Given the description of an element on the screen output the (x, y) to click on. 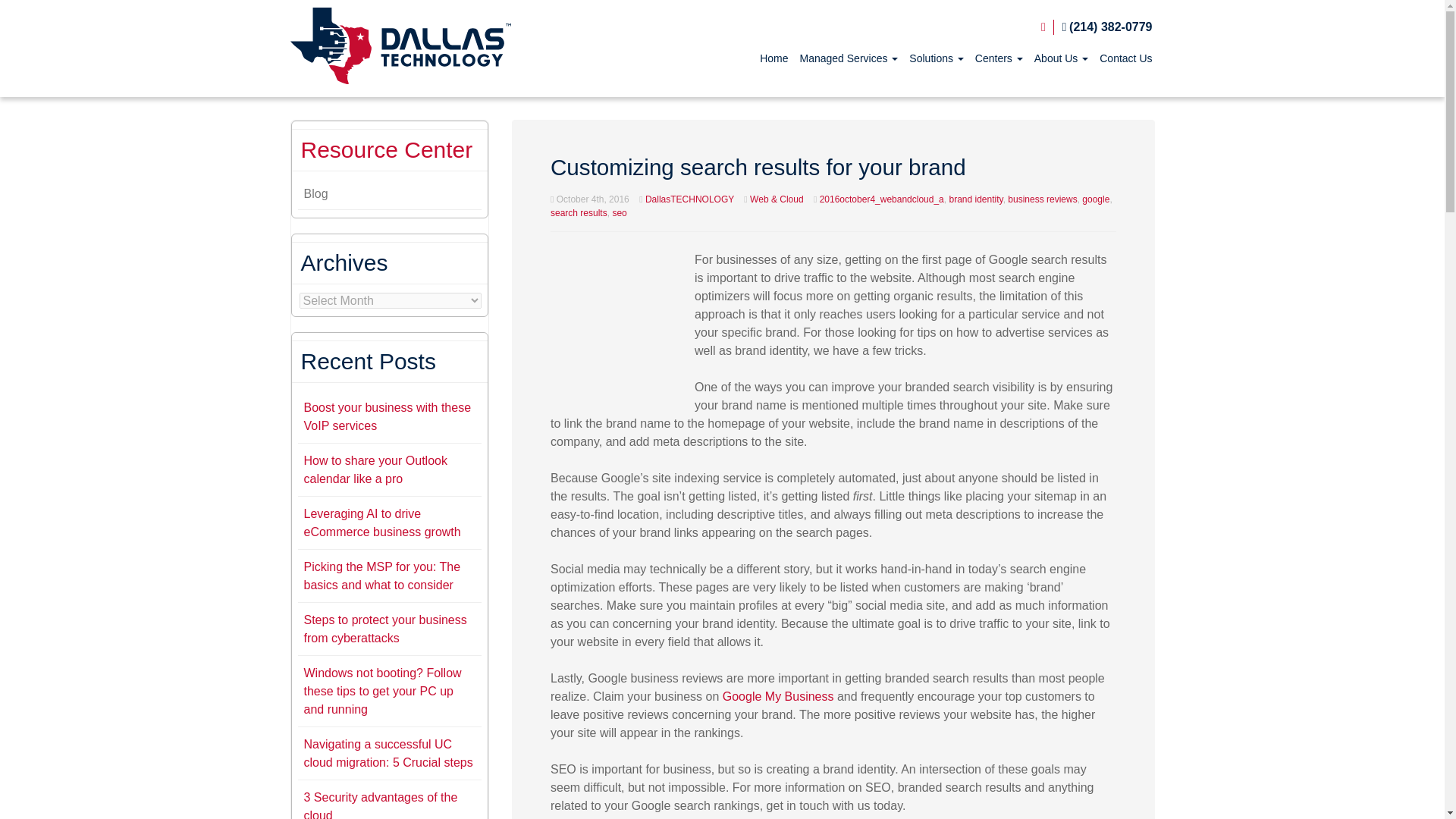
Contact Us (1125, 58)
Solutions (935, 58)
Home (773, 58)
About Us (1060, 58)
Centers (999, 58)
Posts by DallasTECHNOLOGY (689, 199)
Managed Services (848, 58)
